Given the description of an element on the screen output the (x, y) to click on. 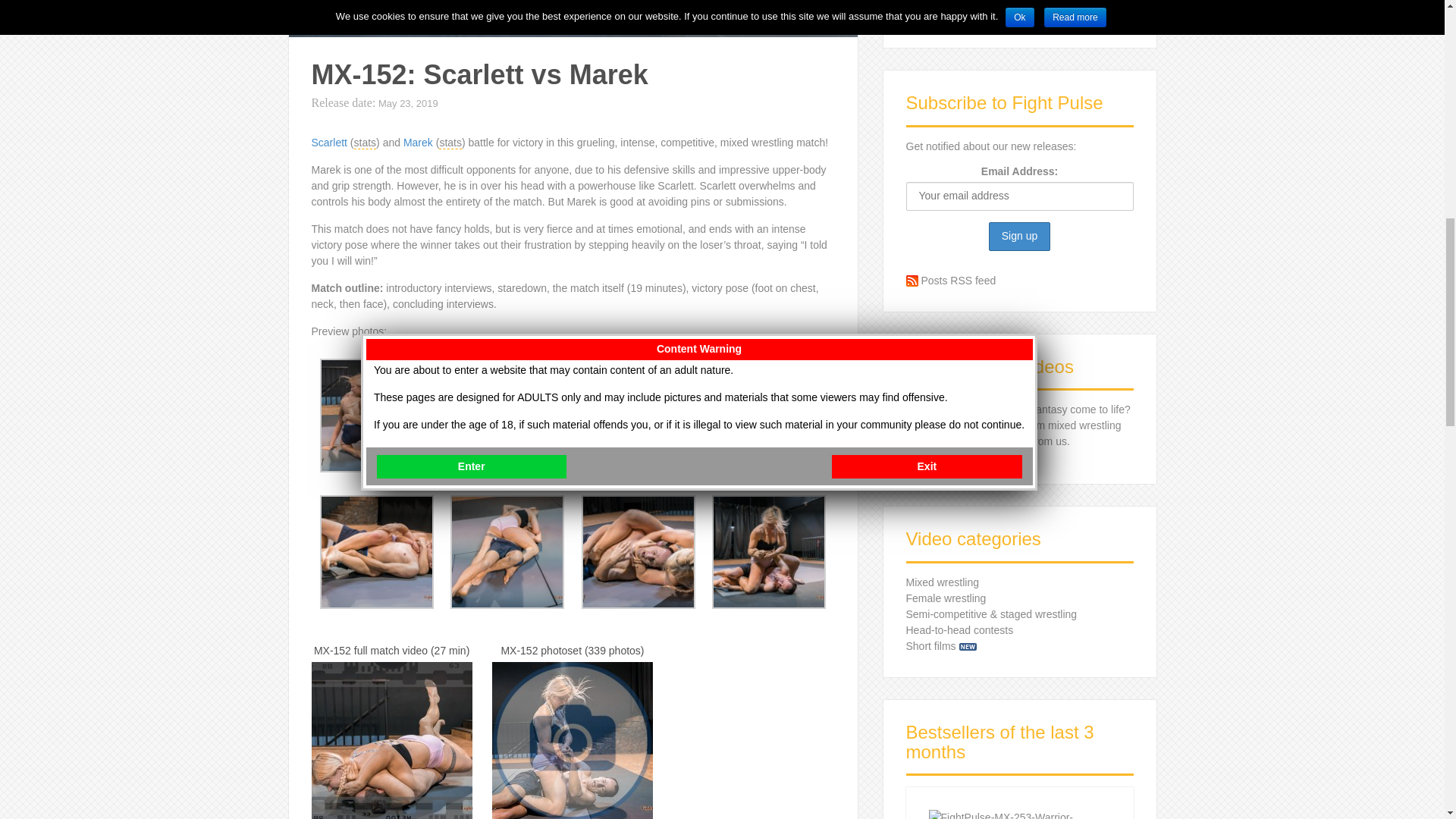
MX-152: Scarlett vs Marek (506, 413)
MX-152: Scarlett vs Marek (637, 550)
MX-152: Scarlett vs Marek (376, 550)
MX-152: Scarlett vs Marek (637, 413)
MX-152: Scarlett vs Marek (768, 413)
Sign up (1018, 235)
MX-152: Scarlett vs Marek (376, 413)
MX-152: Scarlett vs Marek (506, 550)
